Given the description of an element on the screen output the (x, y) to click on. 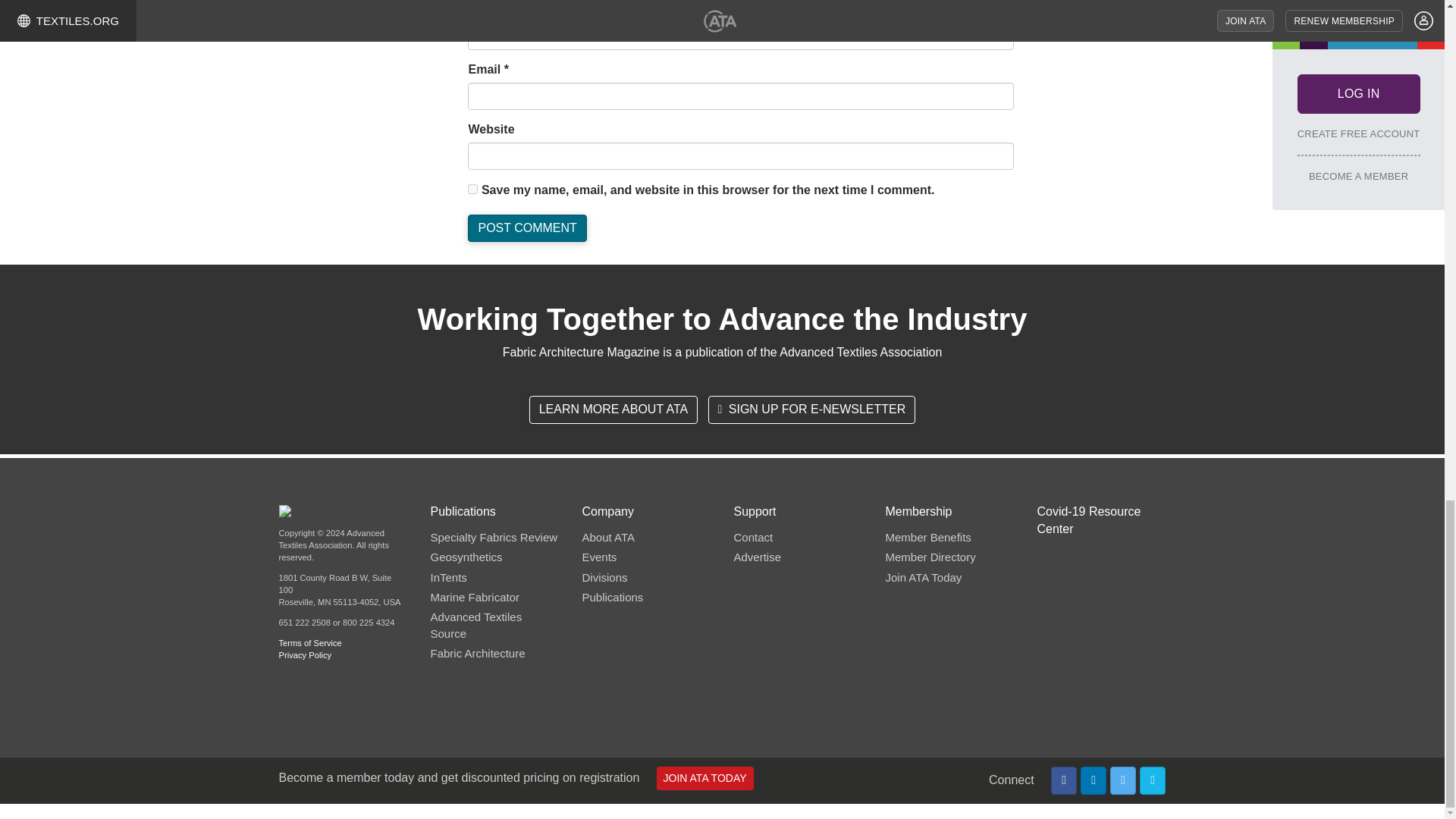
Follow us on Facebook (1064, 780)
yes (472, 189)
Follow us on Twitter (1123, 780)
Watch us on Vimeo (1153, 780)
Follow us on LinkedIn (1093, 780)
Post Comment (526, 228)
